Given the description of an element on the screen output the (x, y) to click on. 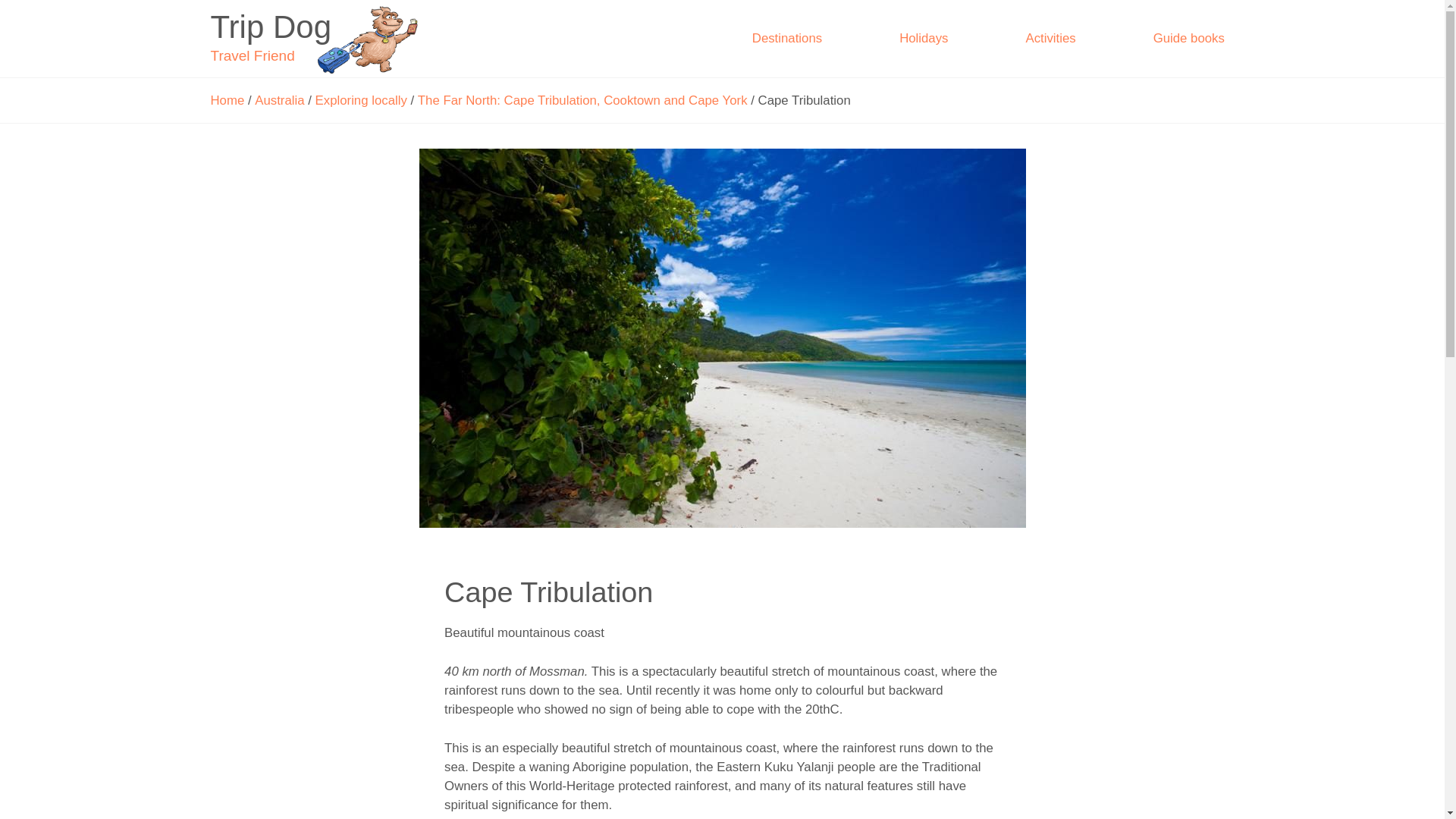
Activities (1050, 37)
Trip Dog - Travel Friend (317, 37)
Australia (279, 99)
Home (227, 99)
Guide books (1187, 37)
Destinations (786, 37)
The Far North: Cape Tribulation, Cooktown and Cape York (582, 99)
Holidays (317, 37)
Exploring locally (923, 37)
